Given the description of an element on the screen output the (x, y) to click on. 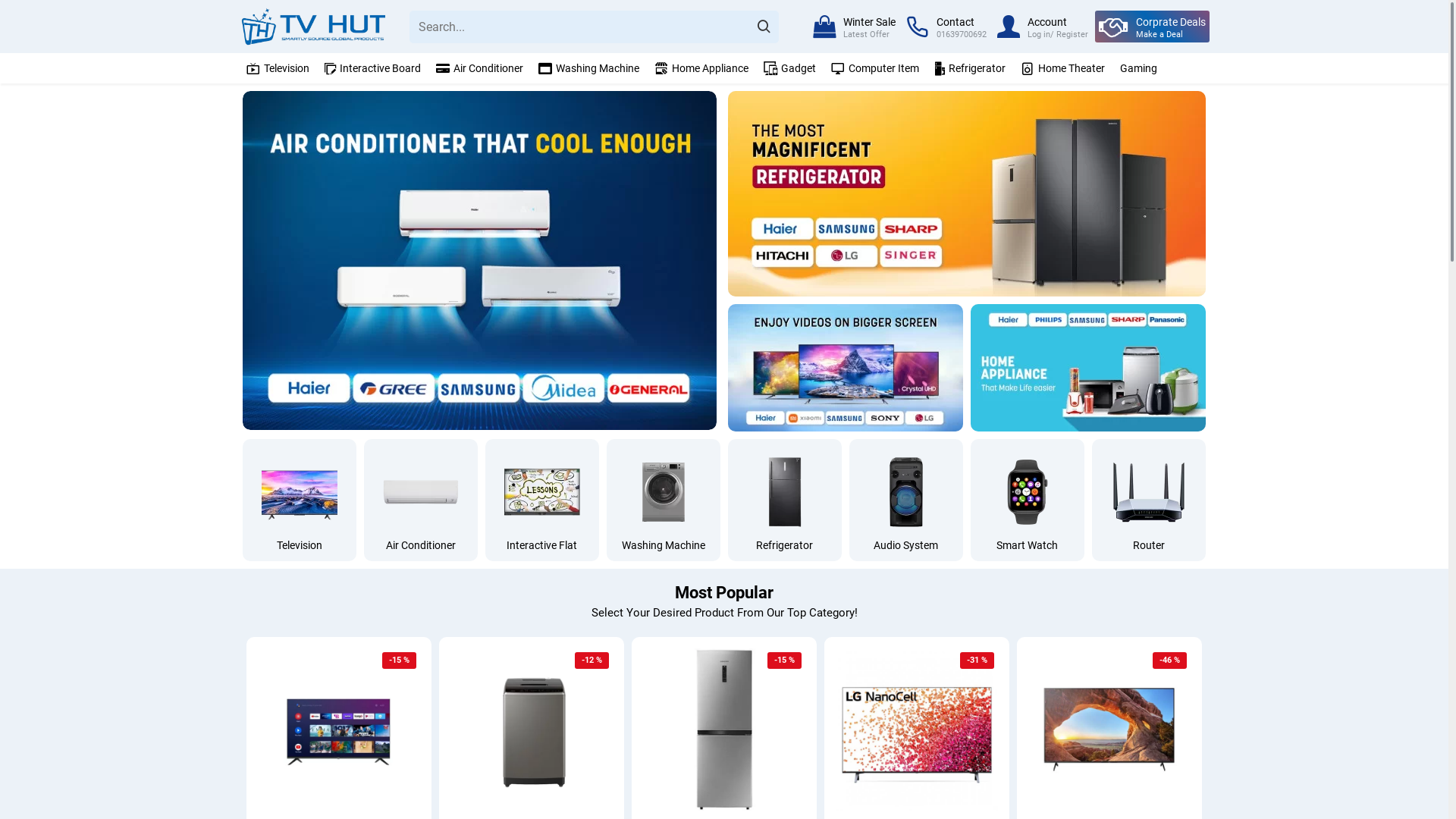
Television Element type: text (275, 68)
Air Conditioner Element type: text (477, 68)
Router Element type: text (1148, 500)
TV HUT Element type: hover (313, 26)
Home Theater Element type: text (1060, 68)
Audio System Element type: text (906, 500)
Gadget Element type: text (787, 68)
Account
Log in/ Register Element type: text (1042, 26)
Contact
01639700692 Element type: text (946, 26)
Smart Watch Element type: text (1027, 500)
Interactive Board Element type: text (370, 68)
Air Conditioner Element type: text (420, 500)
Computer Item Element type: text (872, 68)
Interactive Flat Element type: text (542, 500)
Refrigerator Element type: text (784, 500)
Haier 7 KG Top Load Automatic Washing Machine (HWM70-1269S5) Element type: hover (531, 729)
Home Appliance Element type: text (699, 68)
HAIER H43K800FX 43 INCH FHD ANDROID SMART TV Element type: hover (338, 729)
Winter Sale
Latest Offer Element type: text (854, 26)
Washing Machine Element type: text (663, 500)
Television Element type: text (299, 500)
Corprate Deals
Make a Deal Element type: text (1152, 26)
Refrigerator Element type: text (967, 68)
Gaming Element type: text (1136, 68)
Washing Machine Element type: text (586, 68)
Samsung RB21KMFH5SE-D3 218 Liter Refrigerator Element type: hover (724, 729)
